Given the description of an element on the screen output the (x, y) to click on. 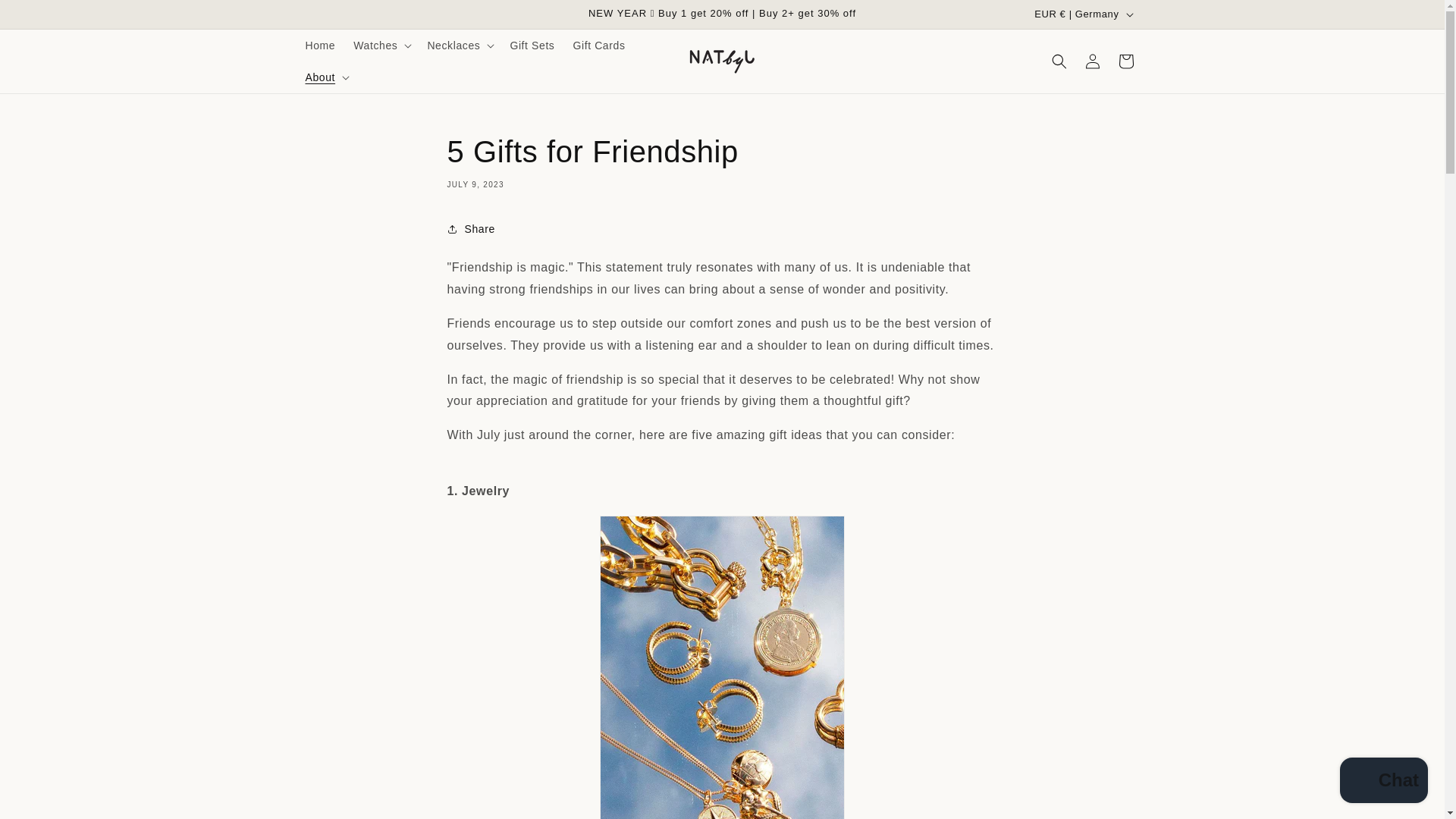
Skip to content (45, 17)
Shopify online store chat (1383, 781)
Home (319, 45)
